Given the description of an element on the screen output the (x, y) to click on. 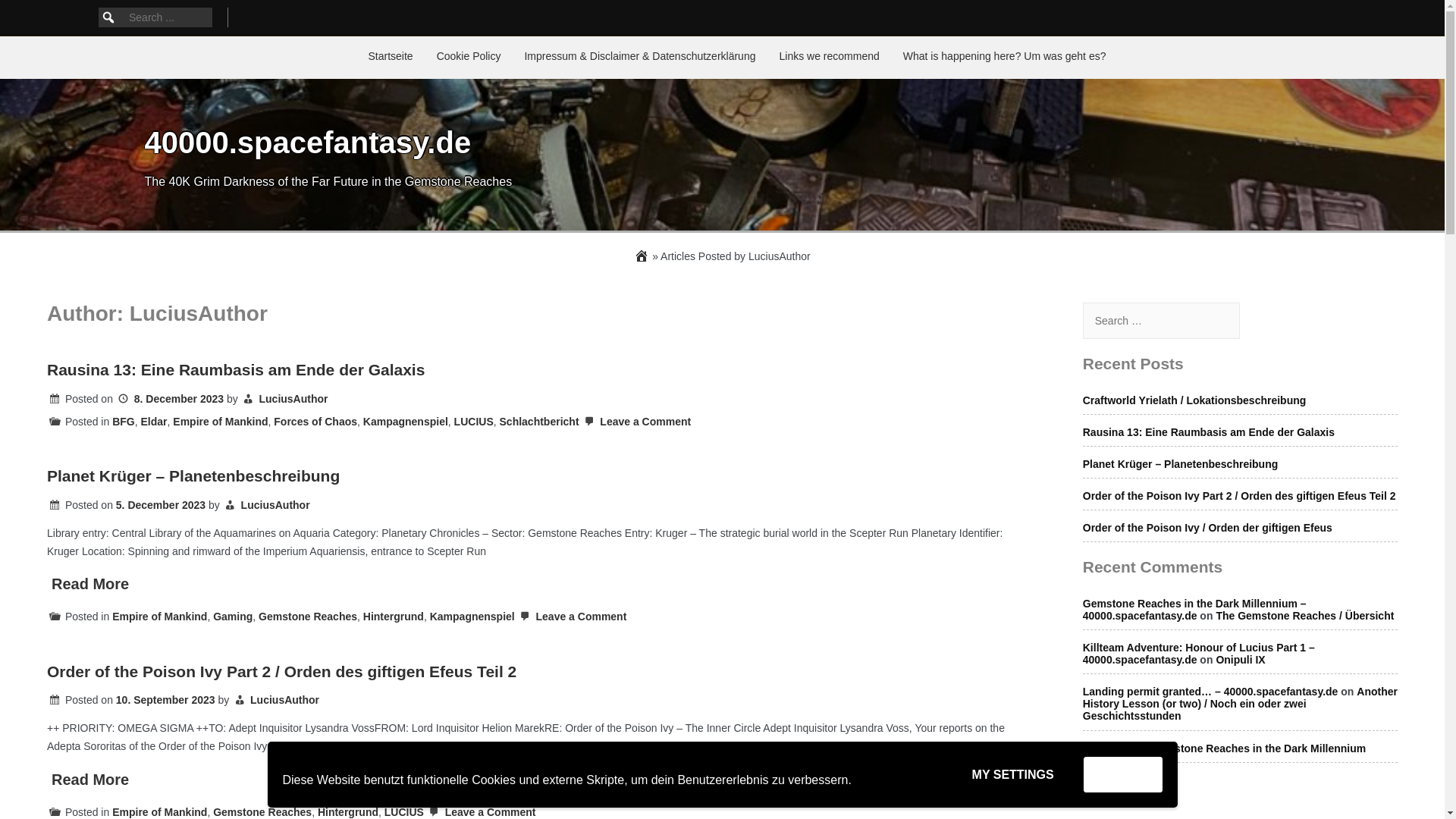
BFG (123, 421)
Search (56, 9)
LuciusAuthor (275, 504)
Links we recommend (829, 57)
Rausina 13: Eine Raumbasis am Ende der Galaxis (235, 369)
Empire of Mankind (220, 421)
Eldar (154, 421)
Forces of Chaos (314, 421)
ACCEPT (1122, 774)
Empire of Mankind (159, 616)
8. December 2023 (170, 398)
Cookie Policy (469, 57)
Startseite (390, 57)
